Given the description of an element on the screen output the (x, y) to click on. 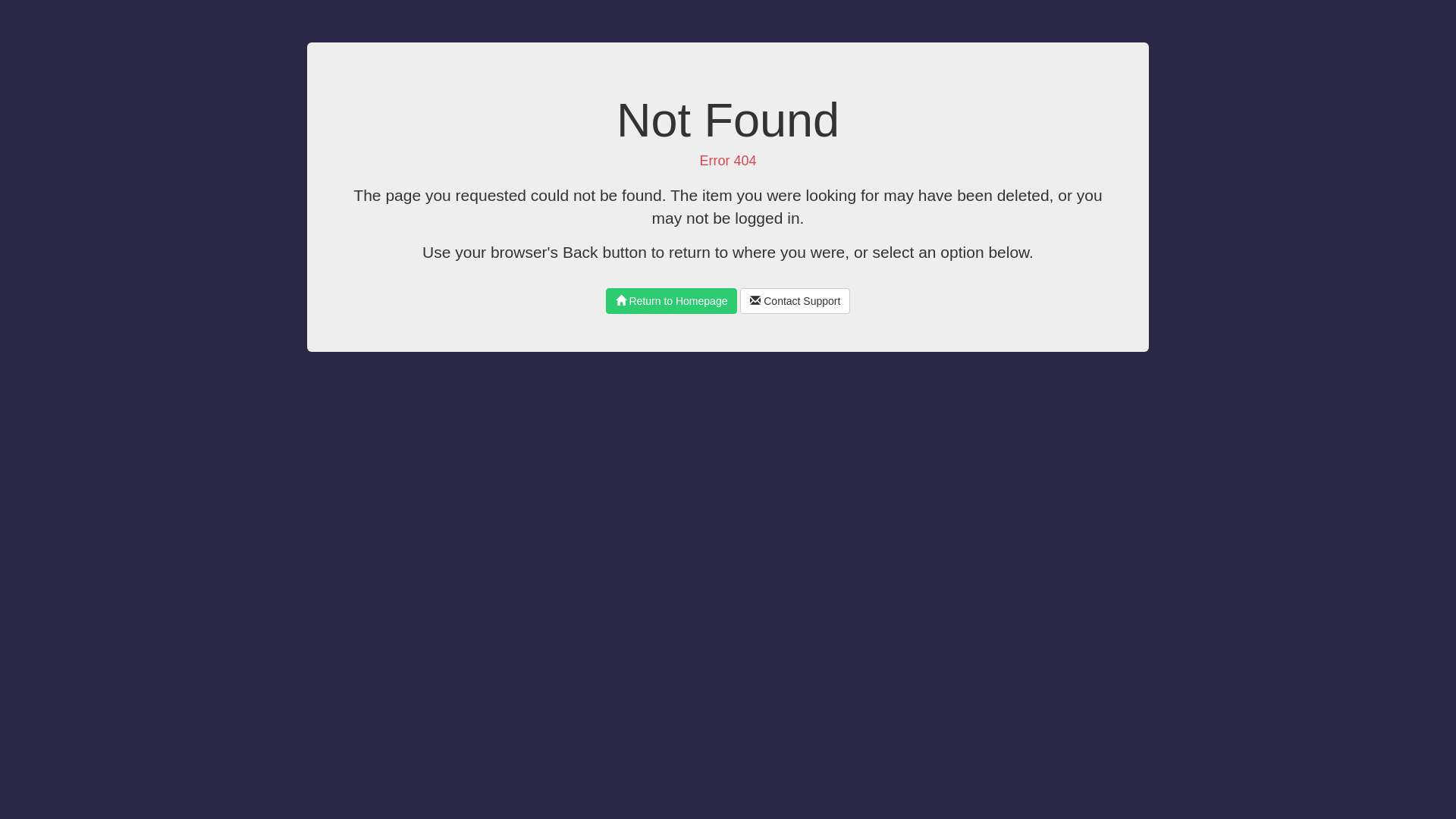
Contact Support Element type: text (795, 300)
Return to Homepage Element type: text (671, 300)
